Given the description of an element on the screen output the (x, y) to click on. 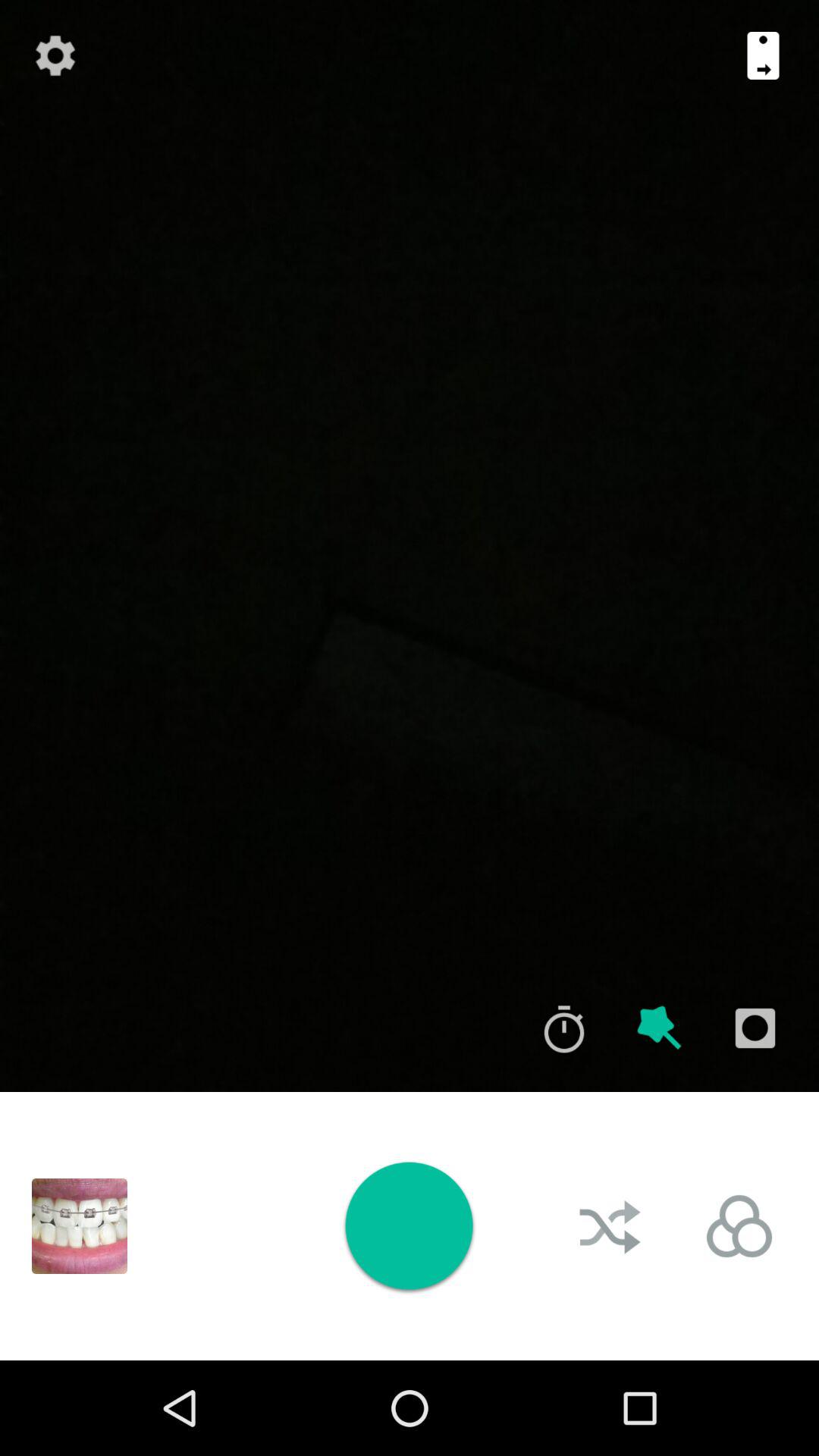
go to setining (55, 55)
